Given the description of an element on the screen output the (x, y) to click on. 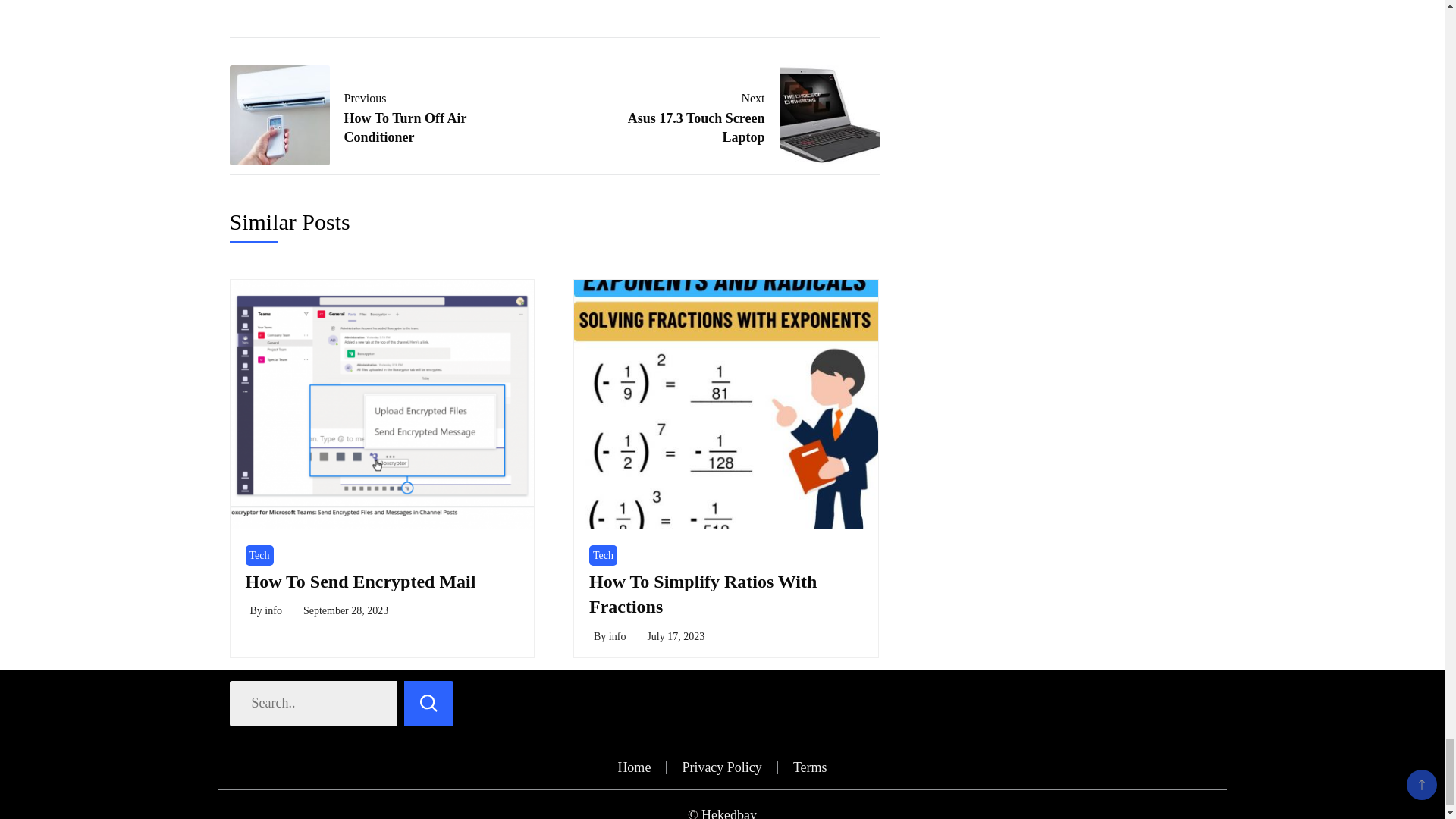
September 28, 2023 (345, 610)
July 17, 2023 (739, 115)
How To Simplify Ratios With Fractions (675, 636)
How To Send Encrypted Mail (702, 594)
info (361, 581)
Tech (617, 636)
Tech (603, 555)
info (259, 555)
